Given the description of an element on the screen output the (x, y) to click on. 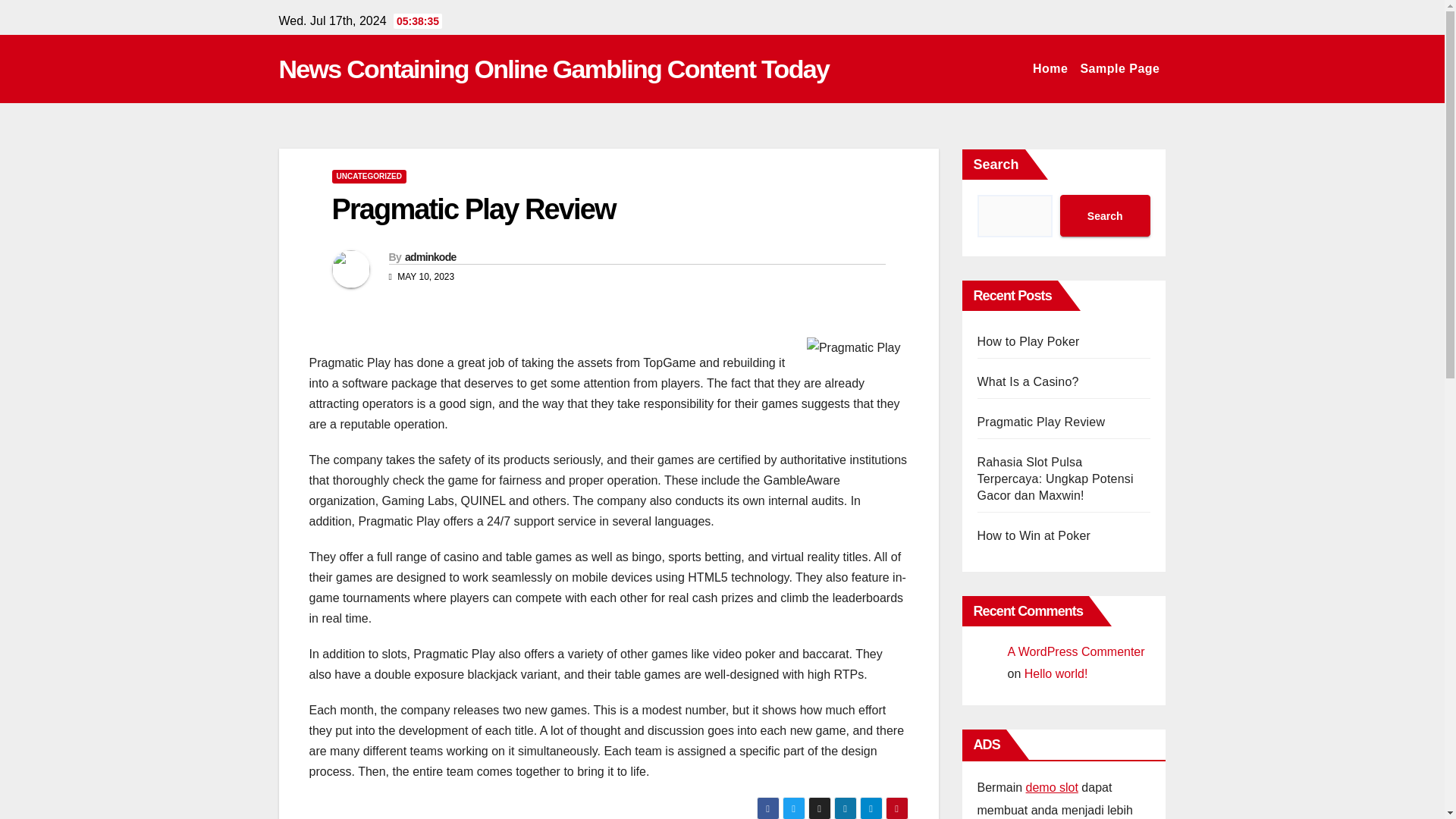
News Containing Online Gambling Content Today (554, 68)
How to Play Poker (1027, 341)
demo slot (1052, 787)
adminkode (430, 256)
Pragmatic Play Review (473, 209)
A WordPress Commenter (1075, 651)
Permalink to: Pragmatic Play Review (473, 209)
UNCATEGORIZED (368, 176)
Hello world! (1056, 673)
What Is a Casino? (1027, 381)
Search (1104, 215)
How to Win at Poker (1033, 535)
Sample Page (1120, 69)
Pragmatic Play Review (1040, 421)
